Given the description of an element on the screen output the (x, y) to click on. 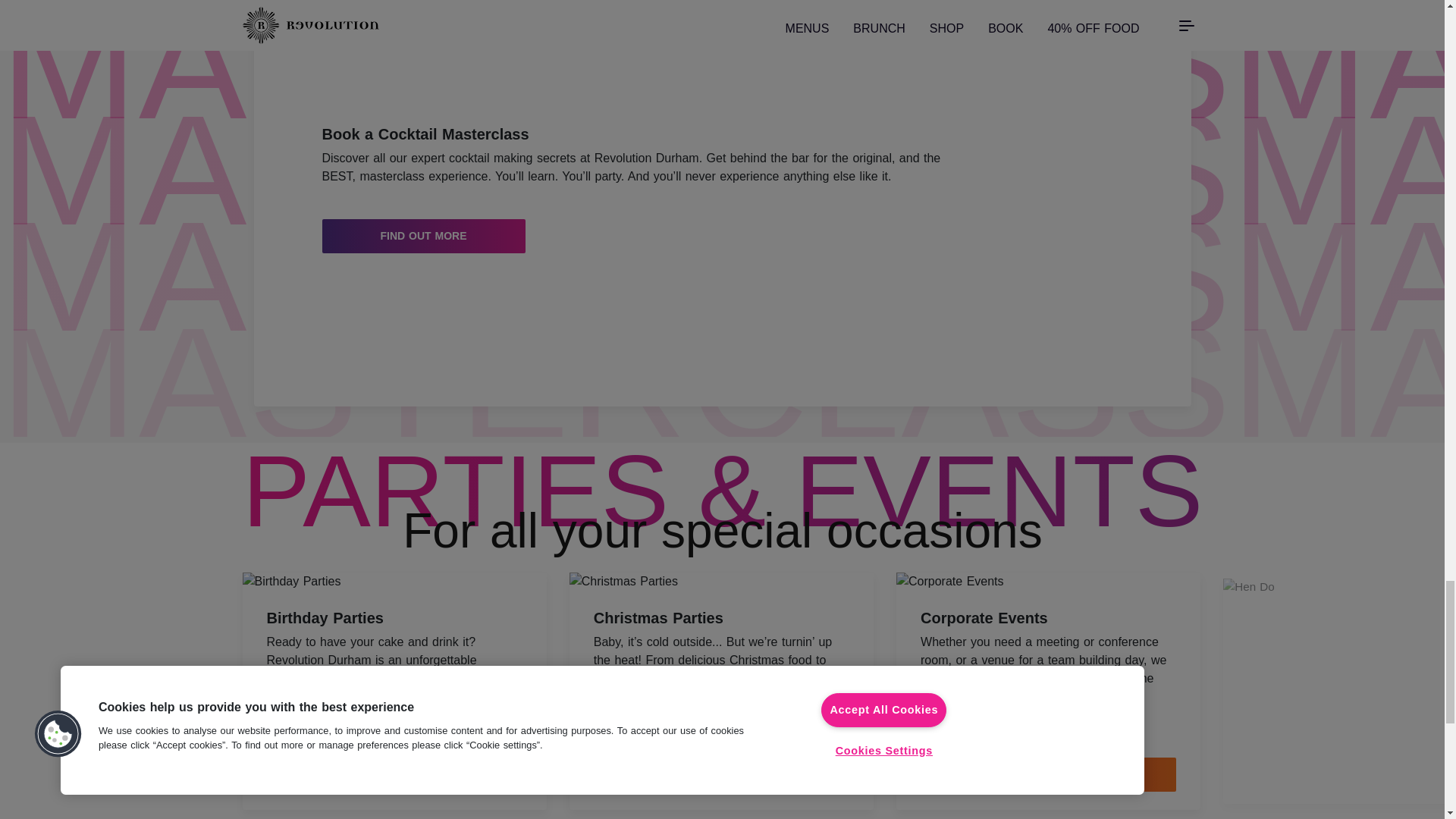
Find out more (721, 774)
Find out more (422, 236)
Find out more (394, 774)
